Given the description of an element on the screen output the (x, y) to click on. 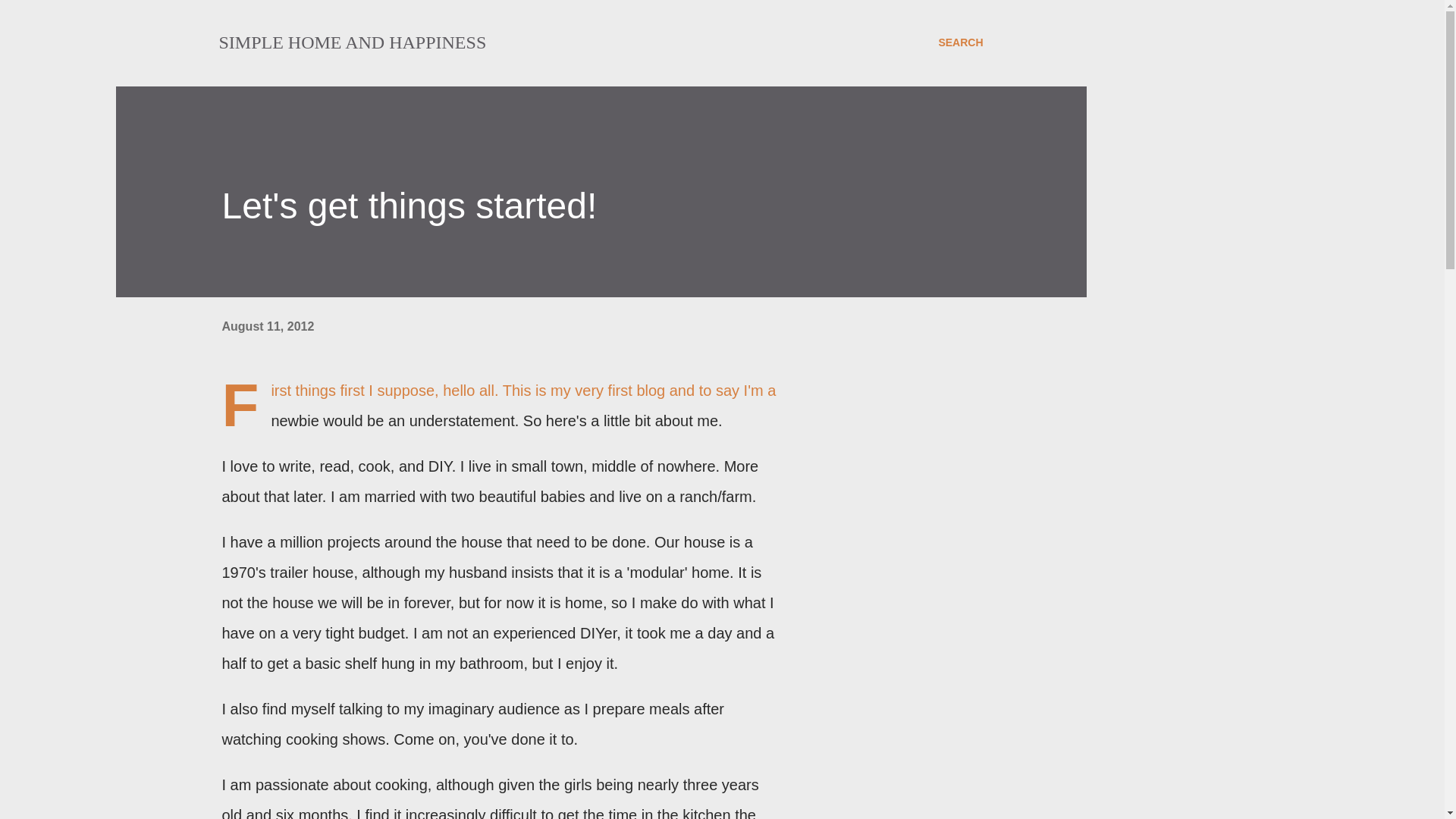
SEARCH (959, 42)
permanent link (267, 326)
August 11, 2012 (267, 326)
SIMPLE HOME AND HAPPINESS (352, 42)
